Given the description of an element on the screen output the (x, y) to click on. 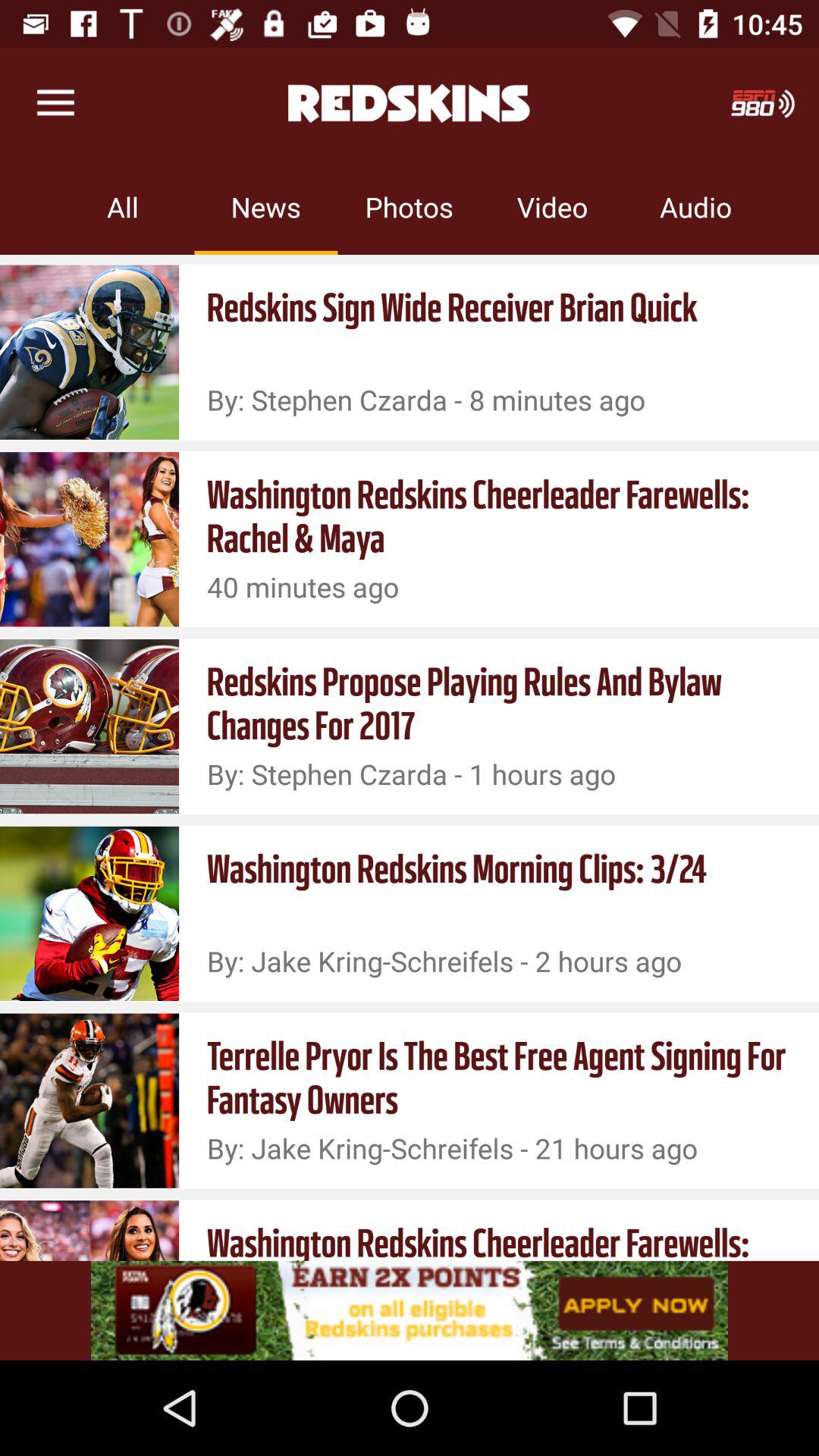
advertisement link (409, 1310)
